Given the description of an element on the screen output the (x, y) to click on. 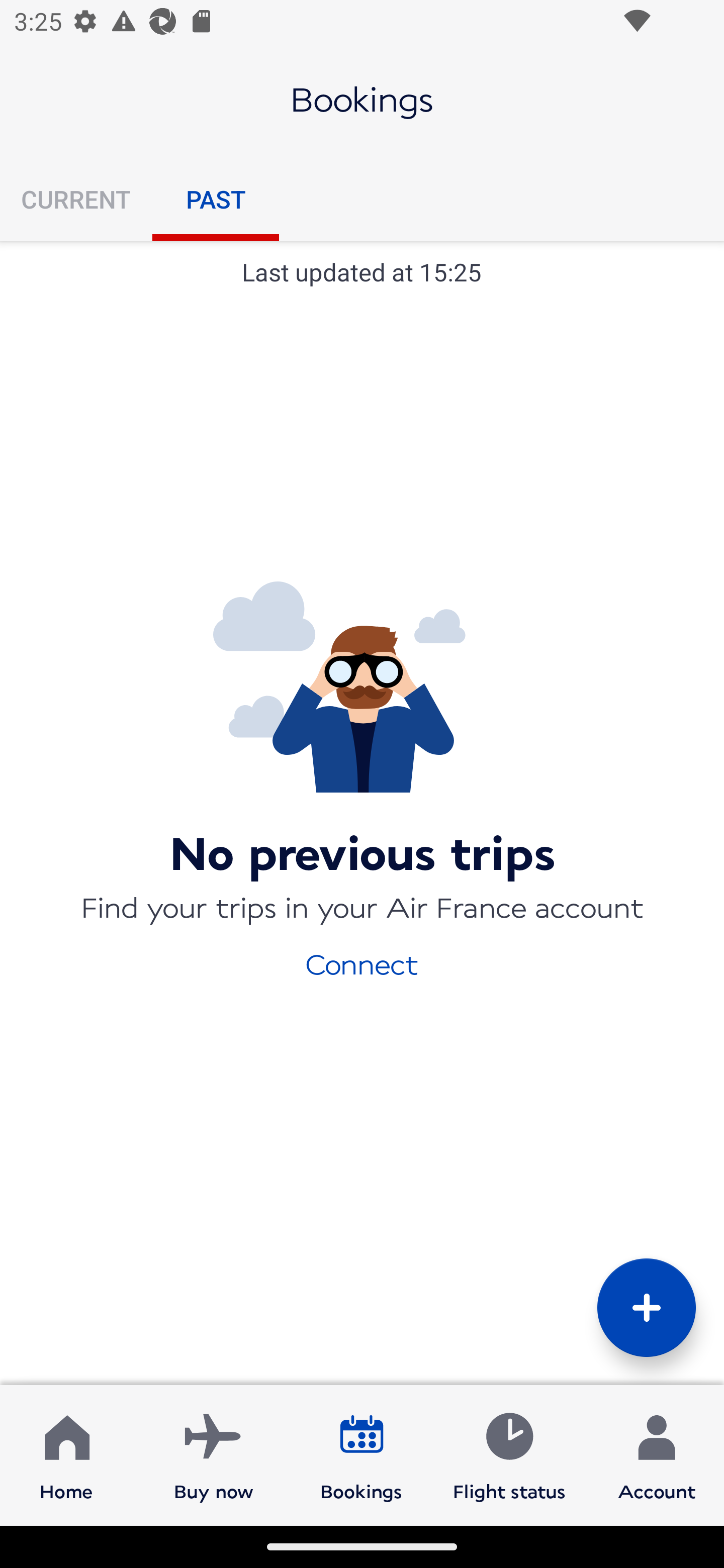
CURRENT (76, 198)
Connect (361, 963)
Home (66, 1454)
Buy now (213, 1454)
Flight status (509, 1454)
Account (657, 1454)
